Given the description of an element on the screen output the (x, y) to click on. 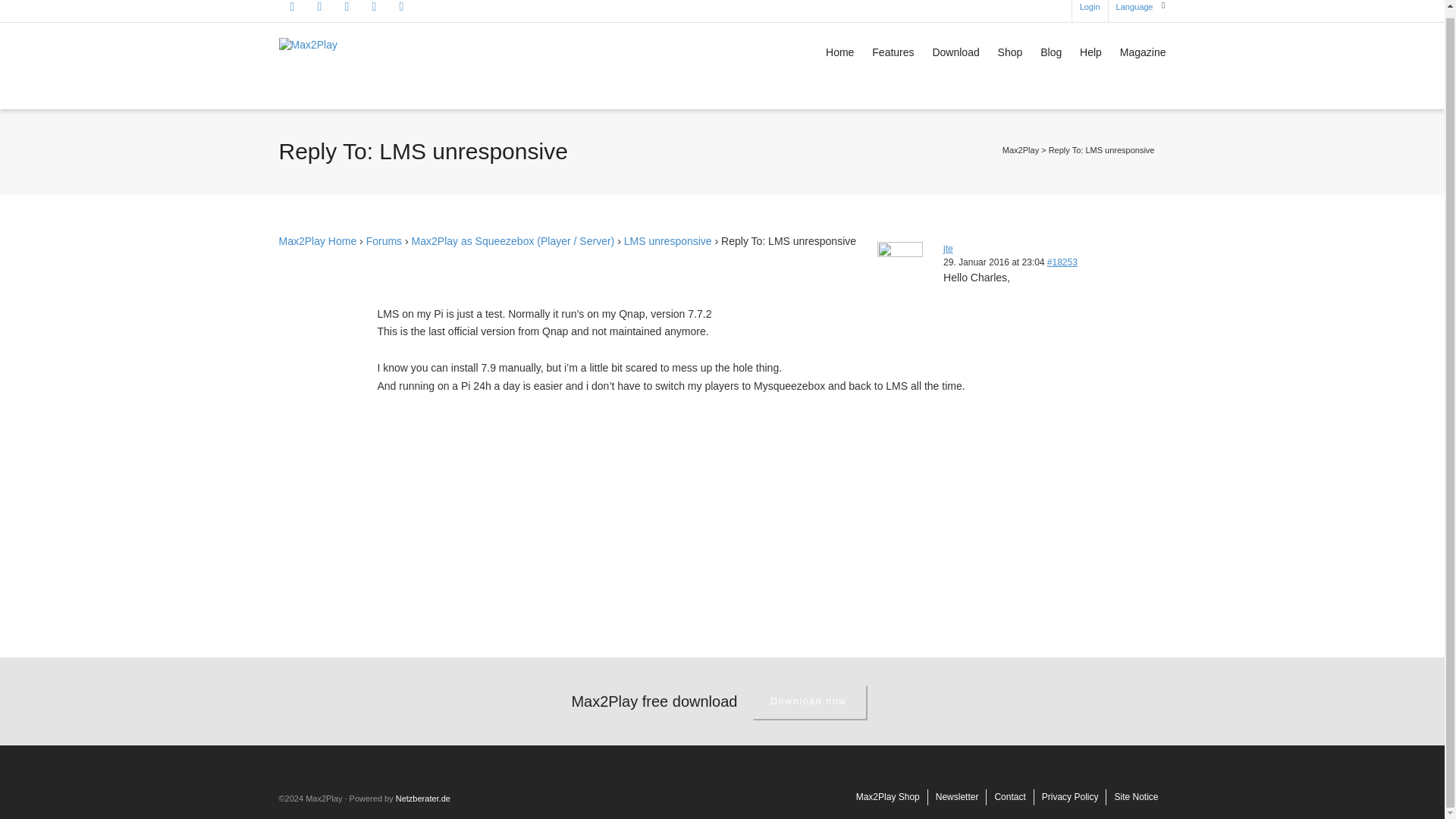
Login (1090, 11)
Reply To: LMS unresponsive (1061, 262)
Language (1134, 11)
Features (893, 53)
View jte's profile (948, 248)
Gehe zu Max2Play. (1021, 149)
